Given the description of an element on the screen output the (x, y) to click on. 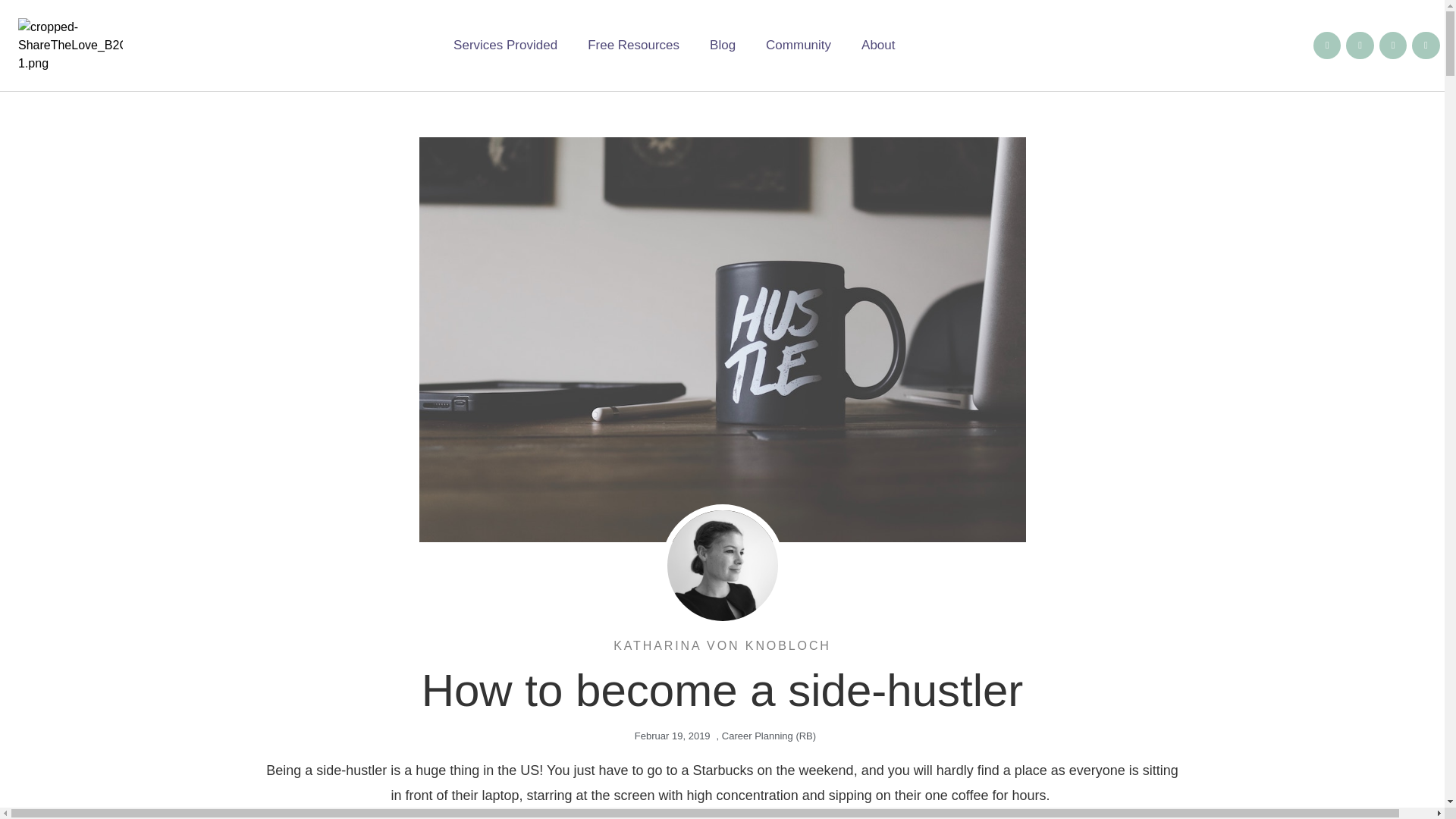
Blog (722, 45)
Community (798, 45)
Services Provided (505, 45)
Free Resources (633, 45)
About (877, 45)
